Given the description of an element on the screen output the (x, y) to click on. 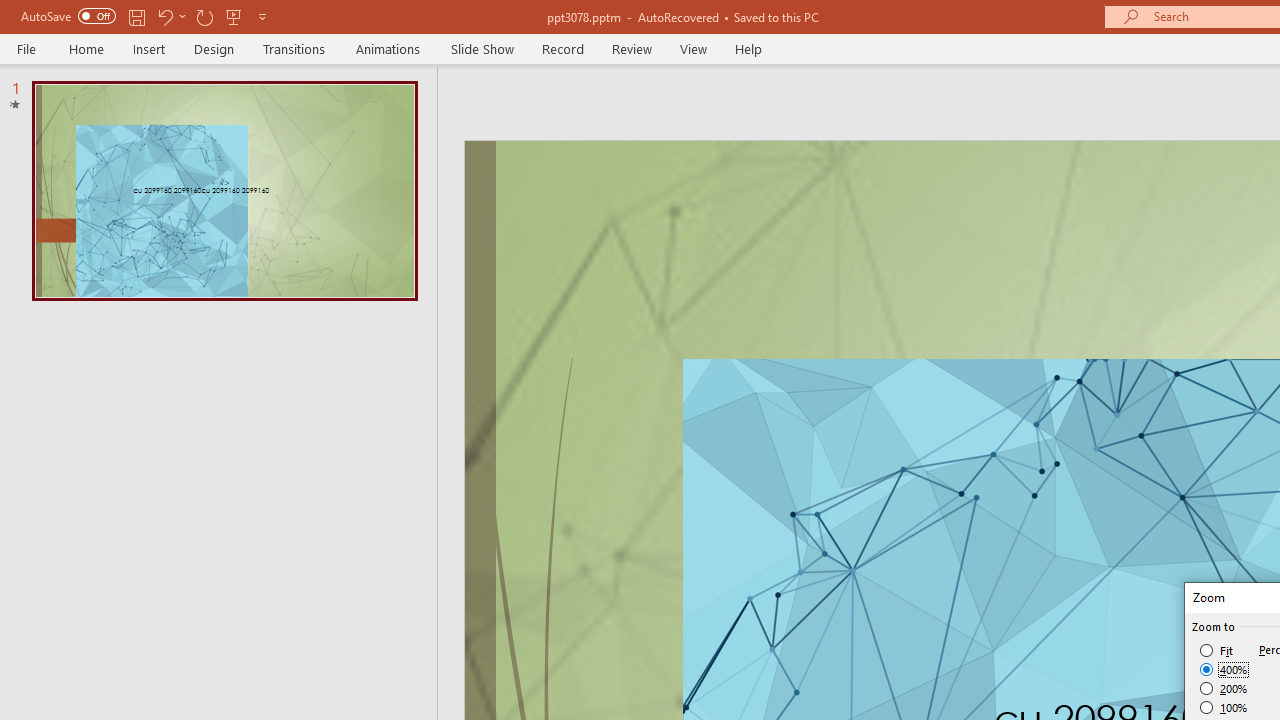
100% (1224, 707)
200% (1224, 688)
